Given the description of an element on the screen output the (x, y) to click on. 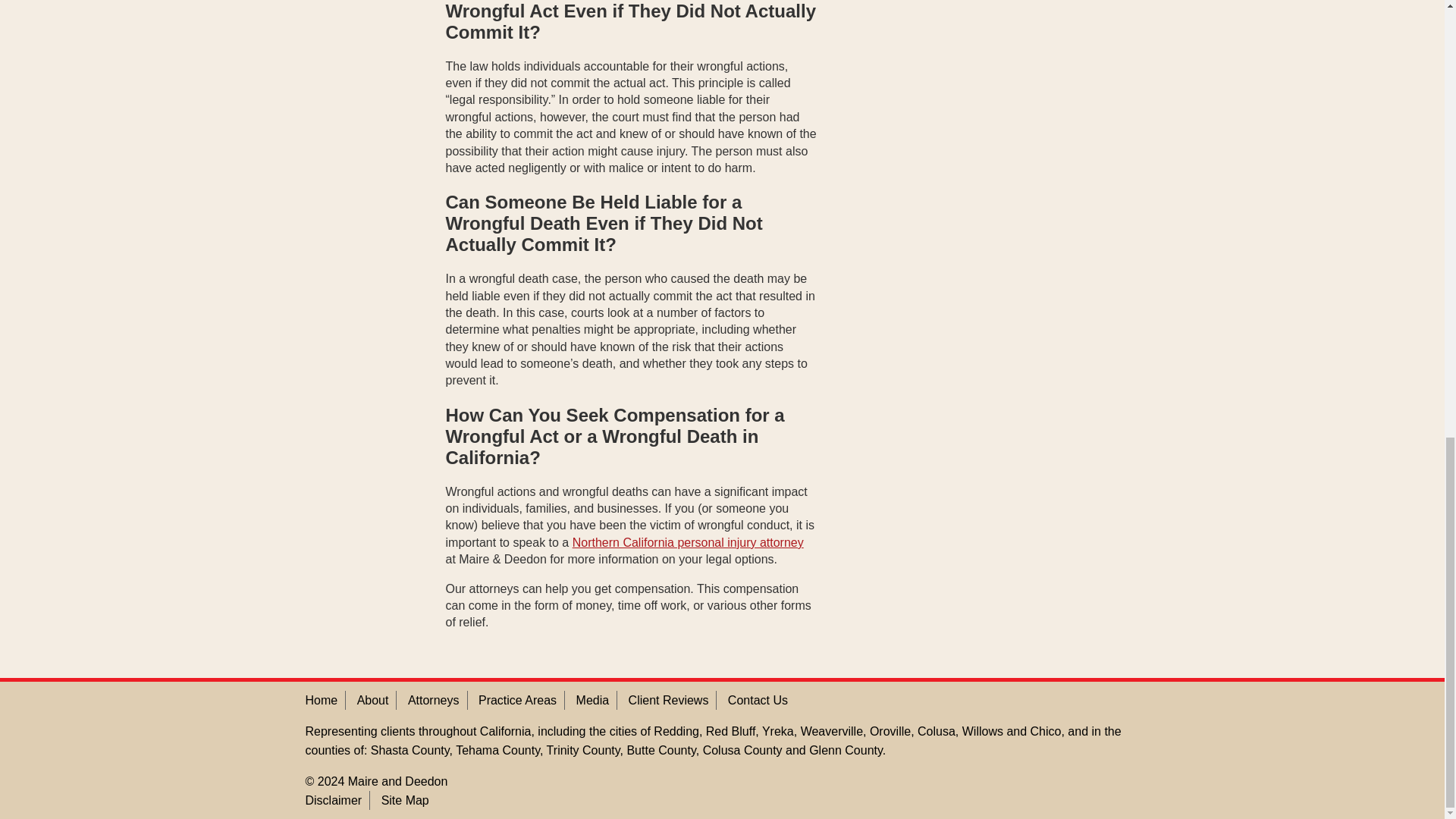
Northern California personal injury attorney (687, 542)
